Given the description of an element on the screen output the (x, y) to click on. 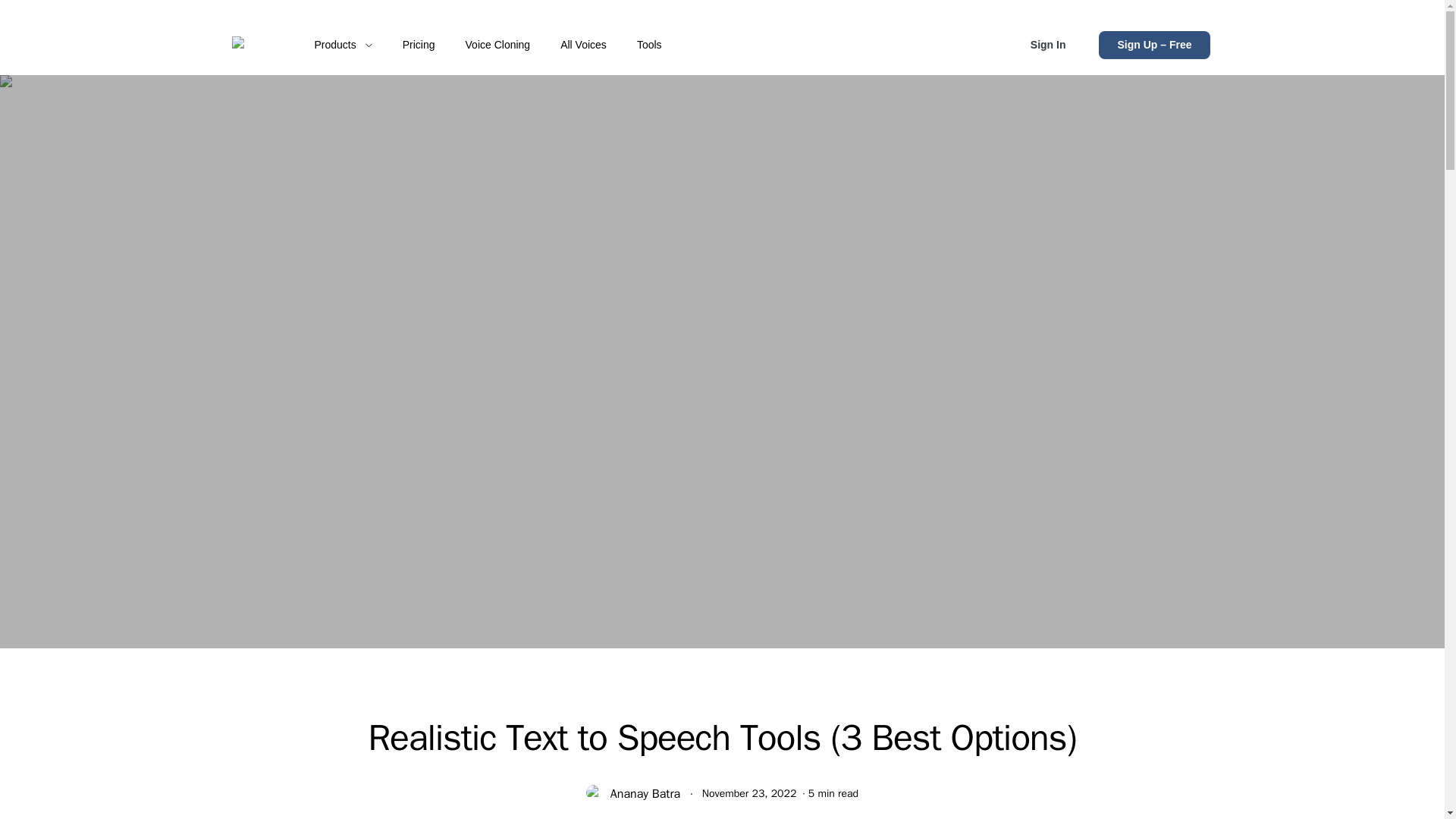
Products (342, 44)
Sign In (1047, 44)
Voice Cloning (497, 44)
All Voices (583, 44)
Tools (649, 44)
Pricing (418, 44)
